Given the description of an element on the screen output the (x, y) to click on. 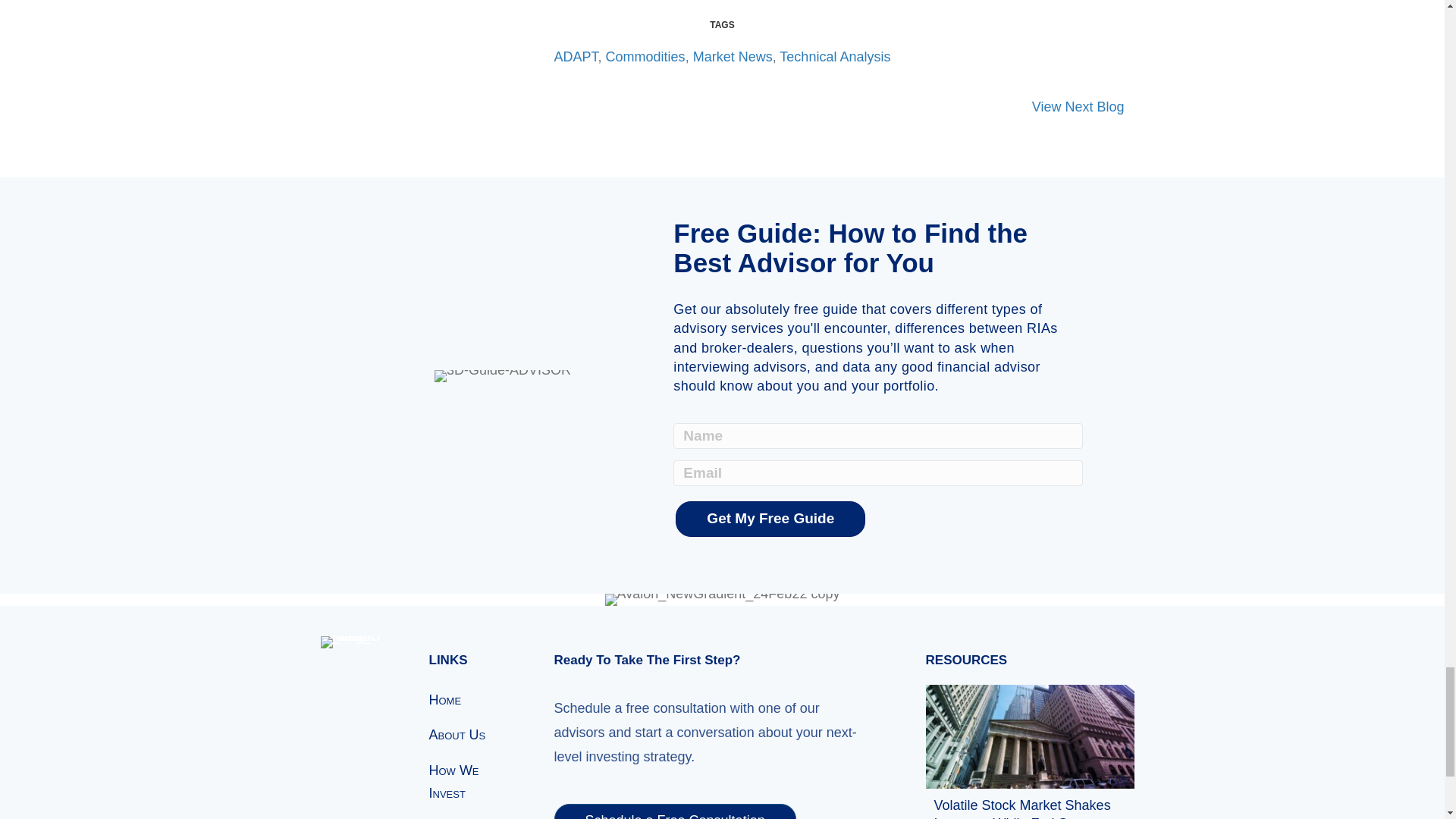
About Us (473, 733)
Home (473, 697)
Commodities (645, 56)
View Next Blog (1078, 107)
How We Invest (473, 780)
Get My Free Guide (769, 519)
Market News (733, 56)
